Given the description of an element on the screen output the (x, y) to click on. 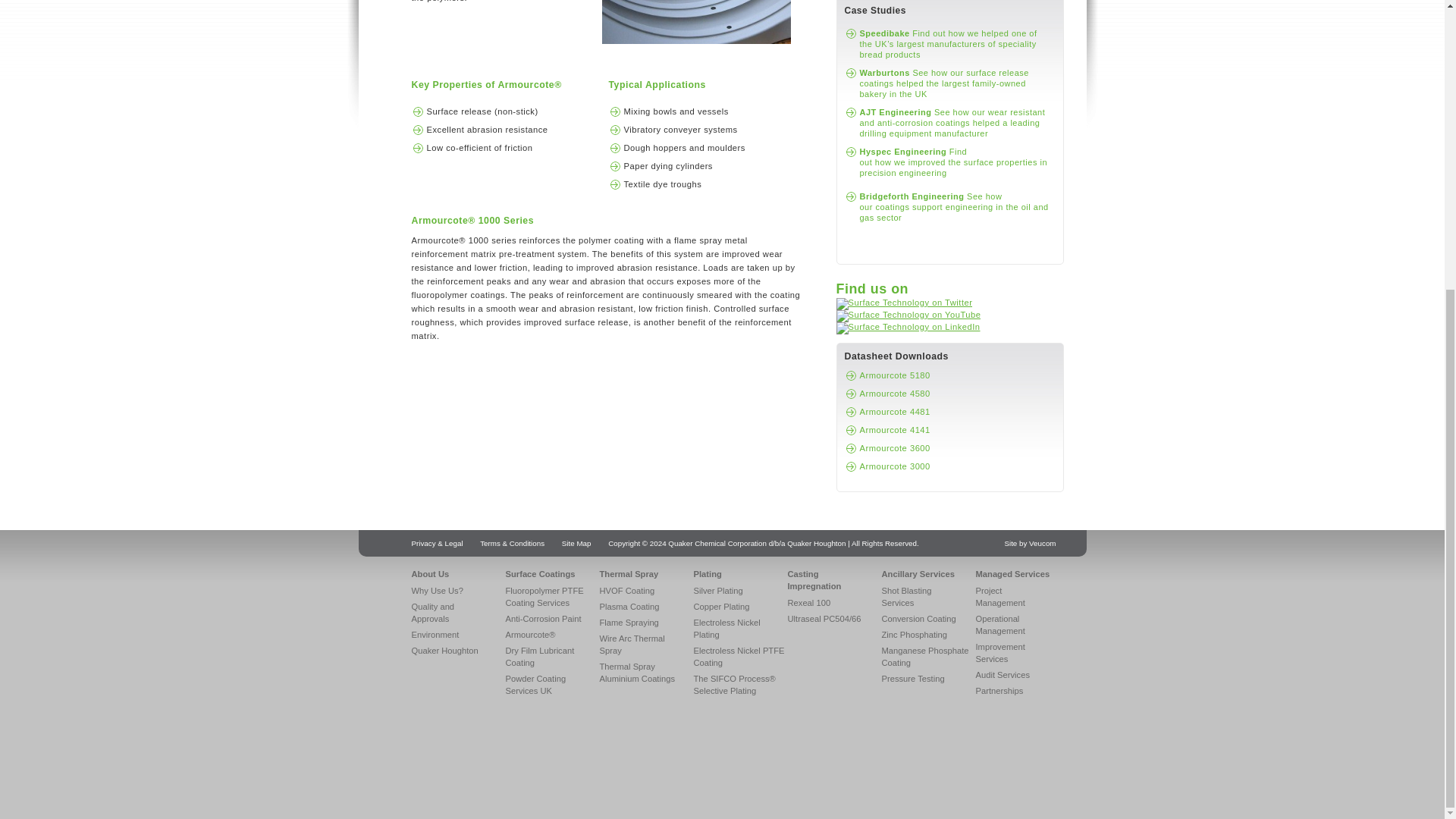
Armourcote 3600 (895, 447)
Armourcote 5180 (895, 375)
Surface Technology on LinkedIn (907, 326)
Hyspec Engineering (954, 161)
Armourcote 4481 (895, 411)
Armourcote 4580 (895, 393)
Warburtons (944, 82)
AJT Engineering (952, 122)
Surface Technology Terms and Conditions (512, 542)
Armourcote 4141 (895, 429)
Surface Technology on Twitter (903, 302)
Armourcote 3000 (895, 465)
Speedibake (948, 42)
Surface Technology Privacy and Legal (436, 542)
Surface Technology on YouTube (907, 314)
